Given the description of an element on the screen output the (x, y) to click on. 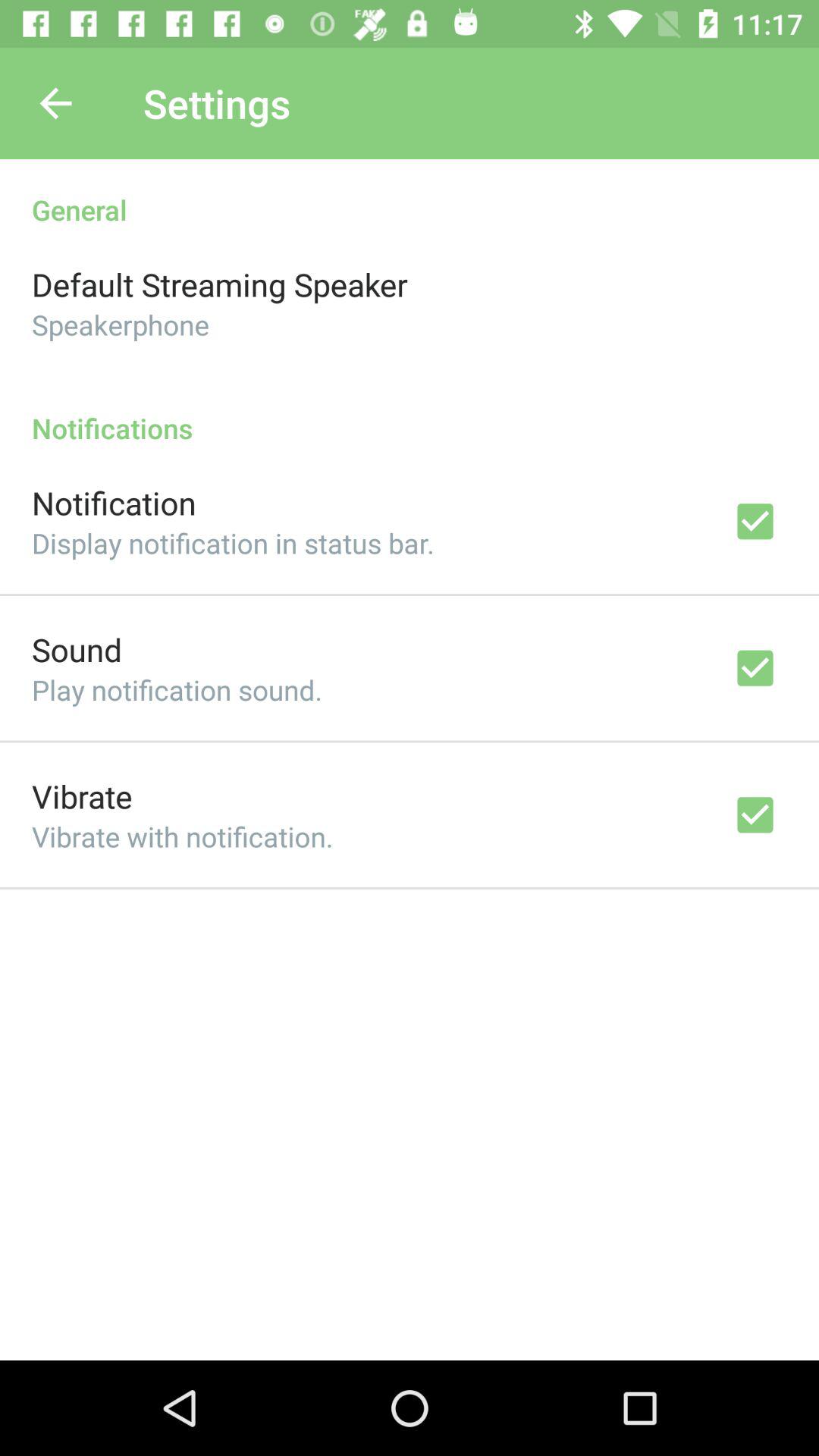
tap icon below notification (232, 542)
